Given the description of an element on the screen output the (x, y) to click on. 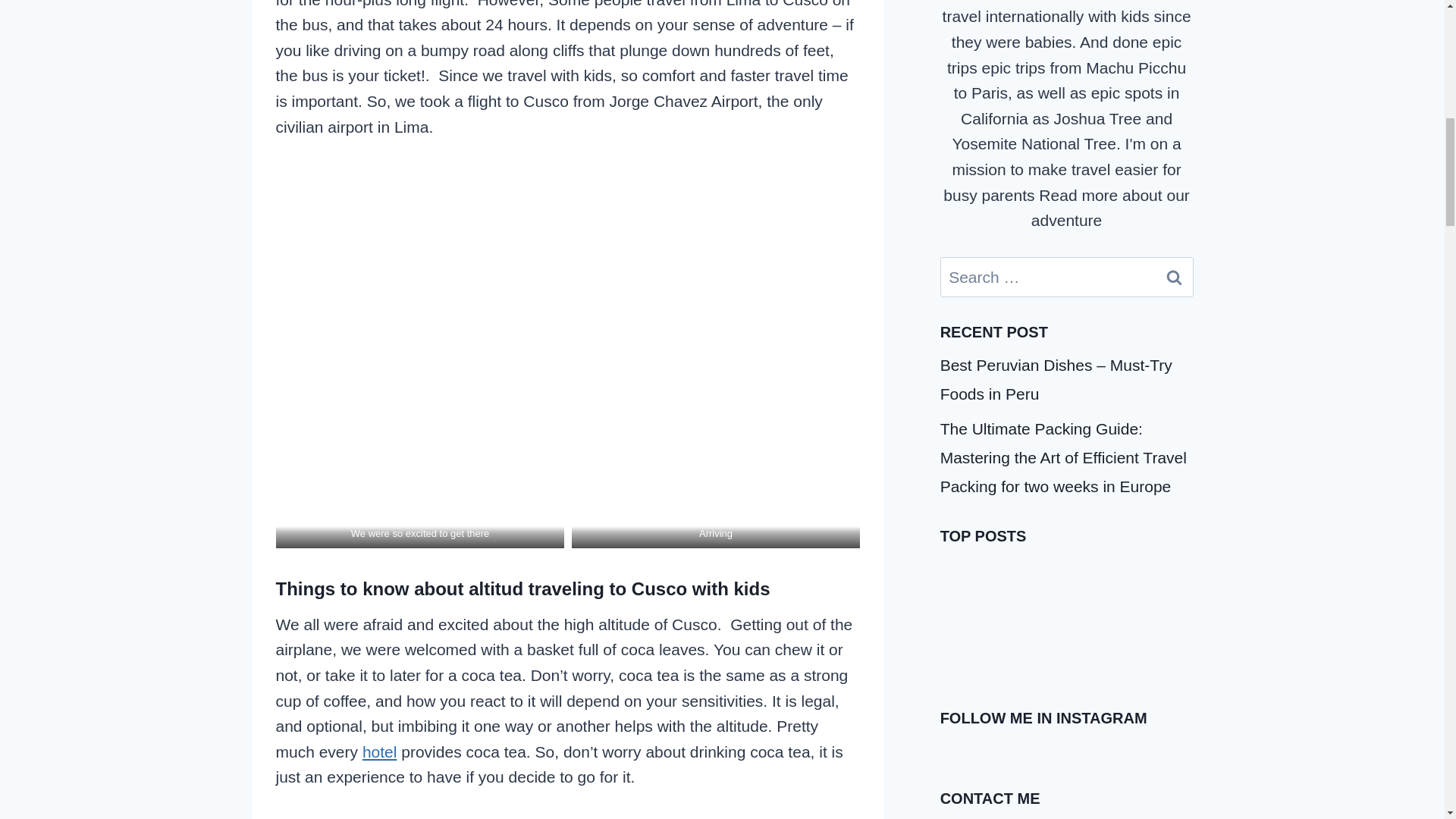
hotels (379, 751)
49 Best 10-Year-Old Birthday Gift Ideas Boy 2024 (1002, 617)
Search (1174, 276)
Search (1174, 276)
